Given the description of an element on the screen output the (x, y) to click on. 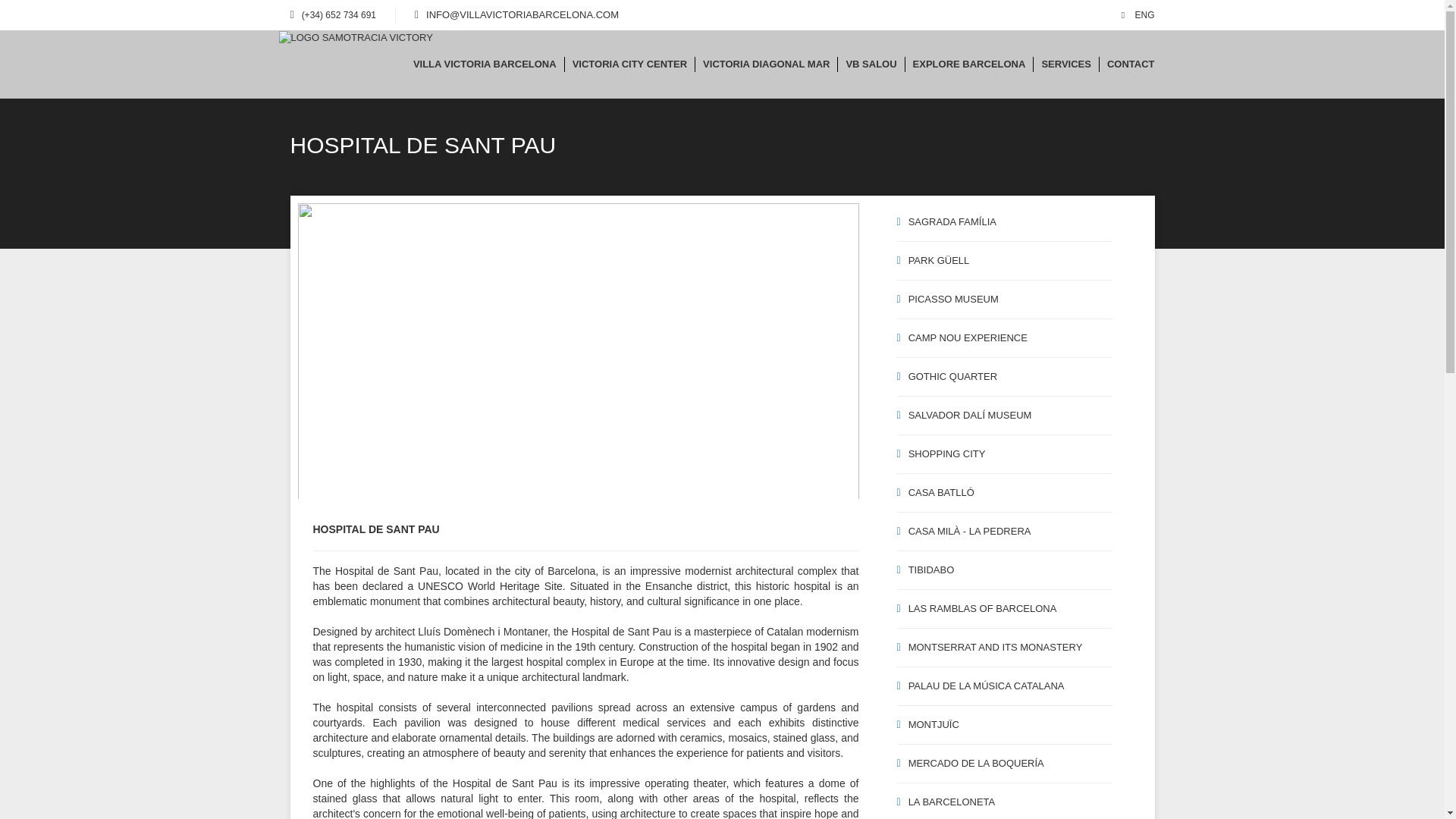
LAS RAMBLAS OF BARCELONA (1004, 608)
ENG (1137, 14)
EXPLORE BARCELONA (969, 64)
VICTORIA CITY CENTER (629, 64)
GOTHIC QUARTER (1004, 376)
CAMP NOU EXPERIENCE (1004, 338)
SERVICES (1065, 64)
CONTACT (1130, 64)
PICASSO MUSEUM (1004, 299)
VICTORIA DIAGONAL MAR (766, 64)
LA BARCELONETA (1004, 800)
MONTSERRAT AND ITS MONASTERY (1004, 647)
SHOPPING CITY (1004, 454)
VB SALOU (870, 64)
VILLA VICTORIA BARCELONA (484, 64)
